Given the description of an element on the screen output the (x, y) to click on. 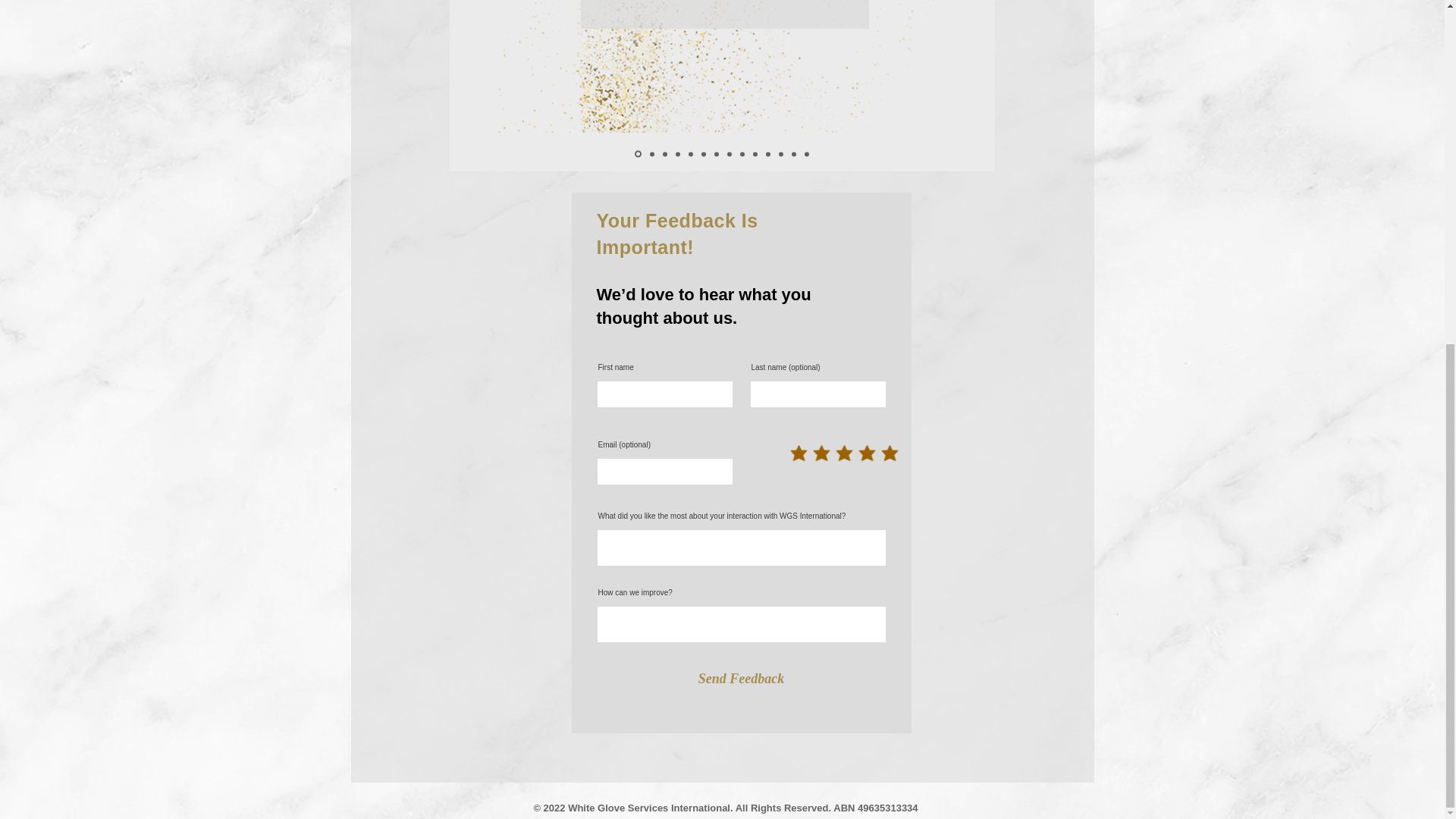
Send Feedback (741, 678)
